Given the description of an element on the screen output the (x, y) to click on. 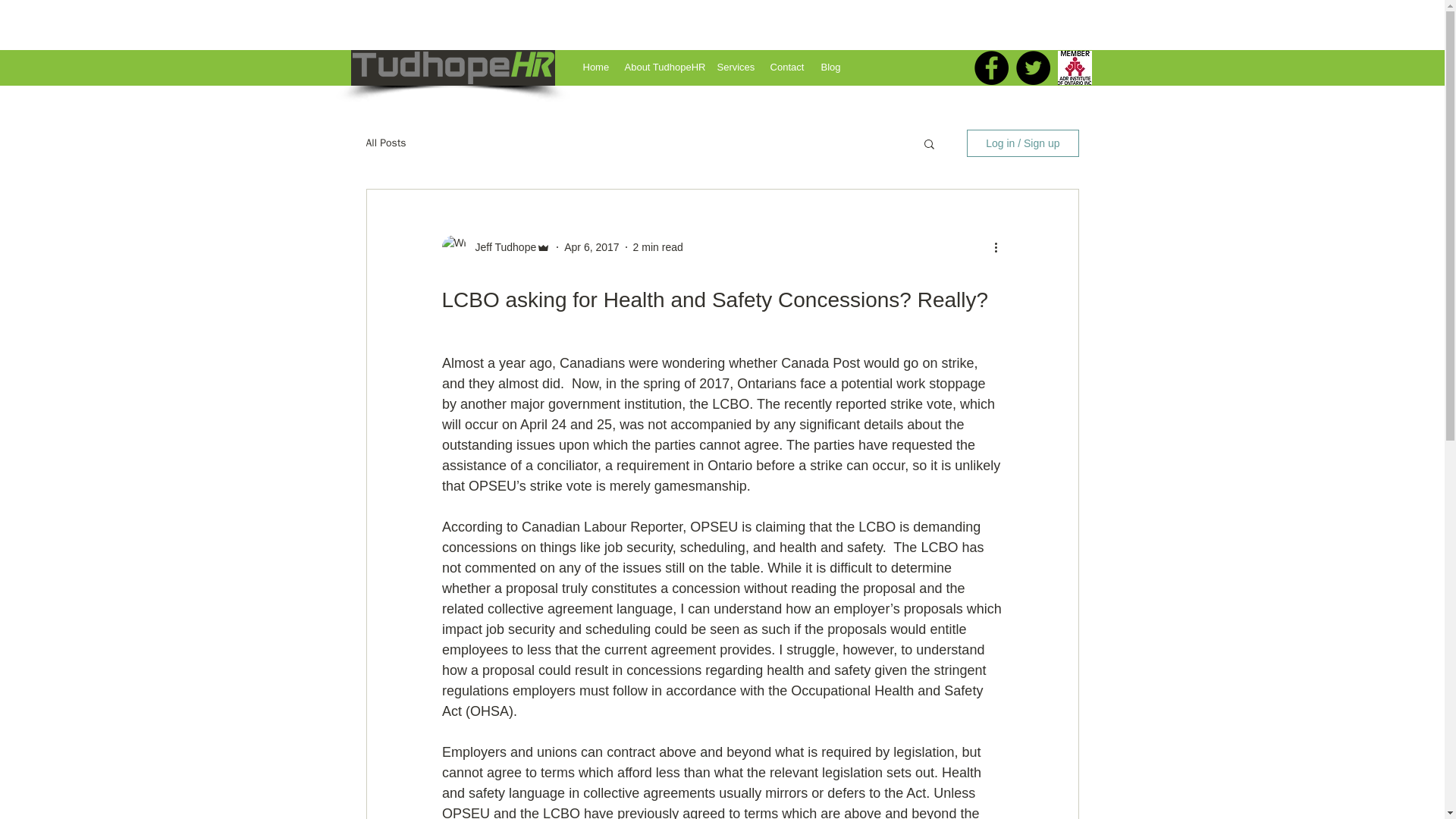
Jeff Tudhope (500, 247)
Services (734, 67)
About TudhopeHR (661, 67)
Blog (830, 67)
Apr 6, 2017 (591, 246)
Contact (786, 67)
2 min read (657, 246)
Home (595, 67)
All Posts (385, 142)
